Given the description of an element on the screen output the (x, y) to click on. 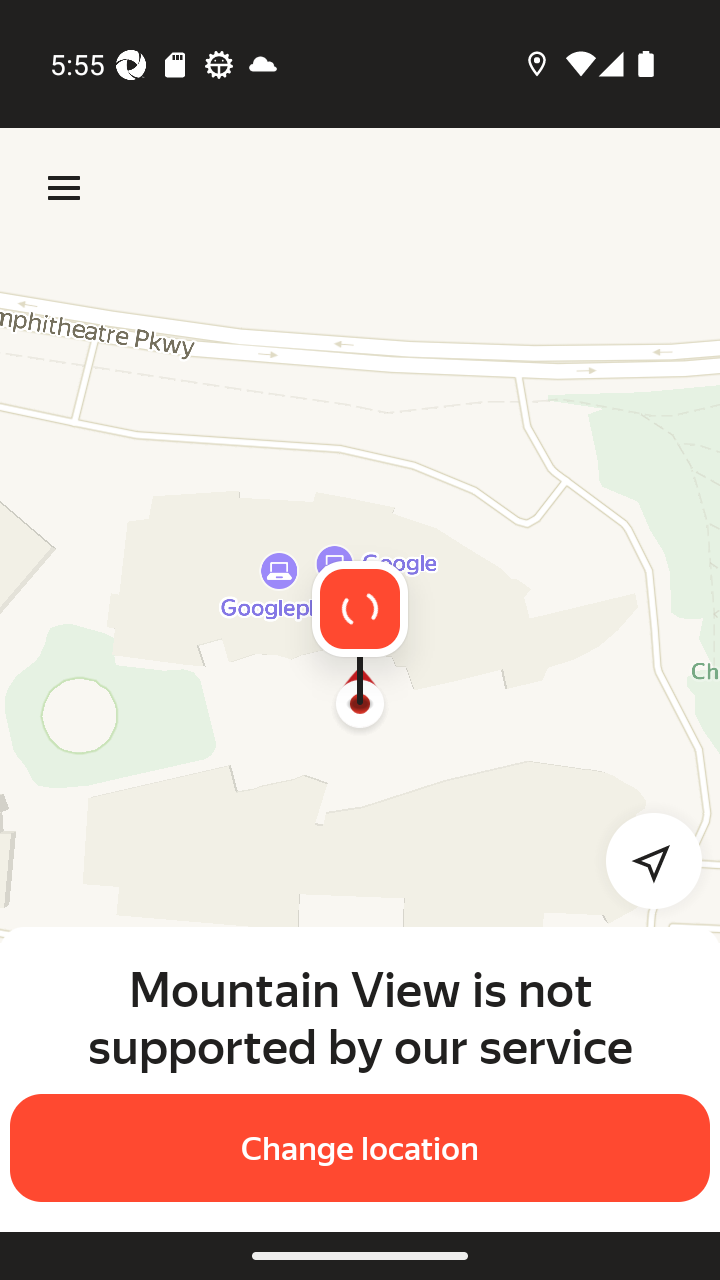
Menu Menu Menu (64, 188)
Detect my location (641, 860)
Mountain View is not supported by our service (360, 1017)
Change location (359, 1147)
